Given the description of an element on the screen output the (x, y) to click on. 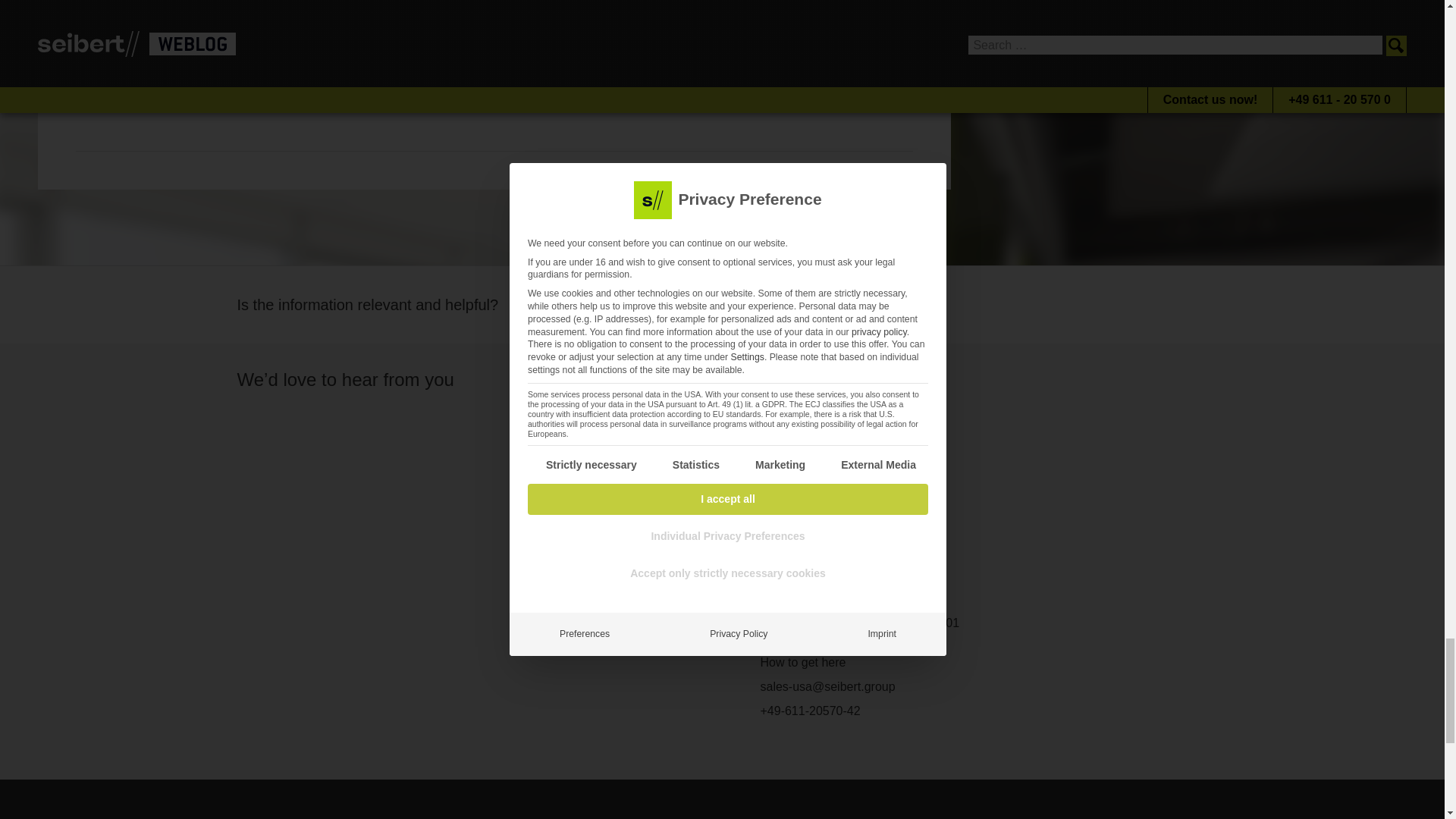
Confluence (103, 51)
Thumb Created with Sketch. (583, 301)
Share on X (126, 92)
Share on Mastodon (195, 92)
Thumb Created with Sketch. (541, 301)
Send by email (263, 92)
Share on Facebook (93, 92)
Confluence Cloud (183, 51)
Share on LinkedIn (161, 92)
Share on Whatsapp (229, 92)
